Given the description of an element on the screen output the (x, y) to click on. 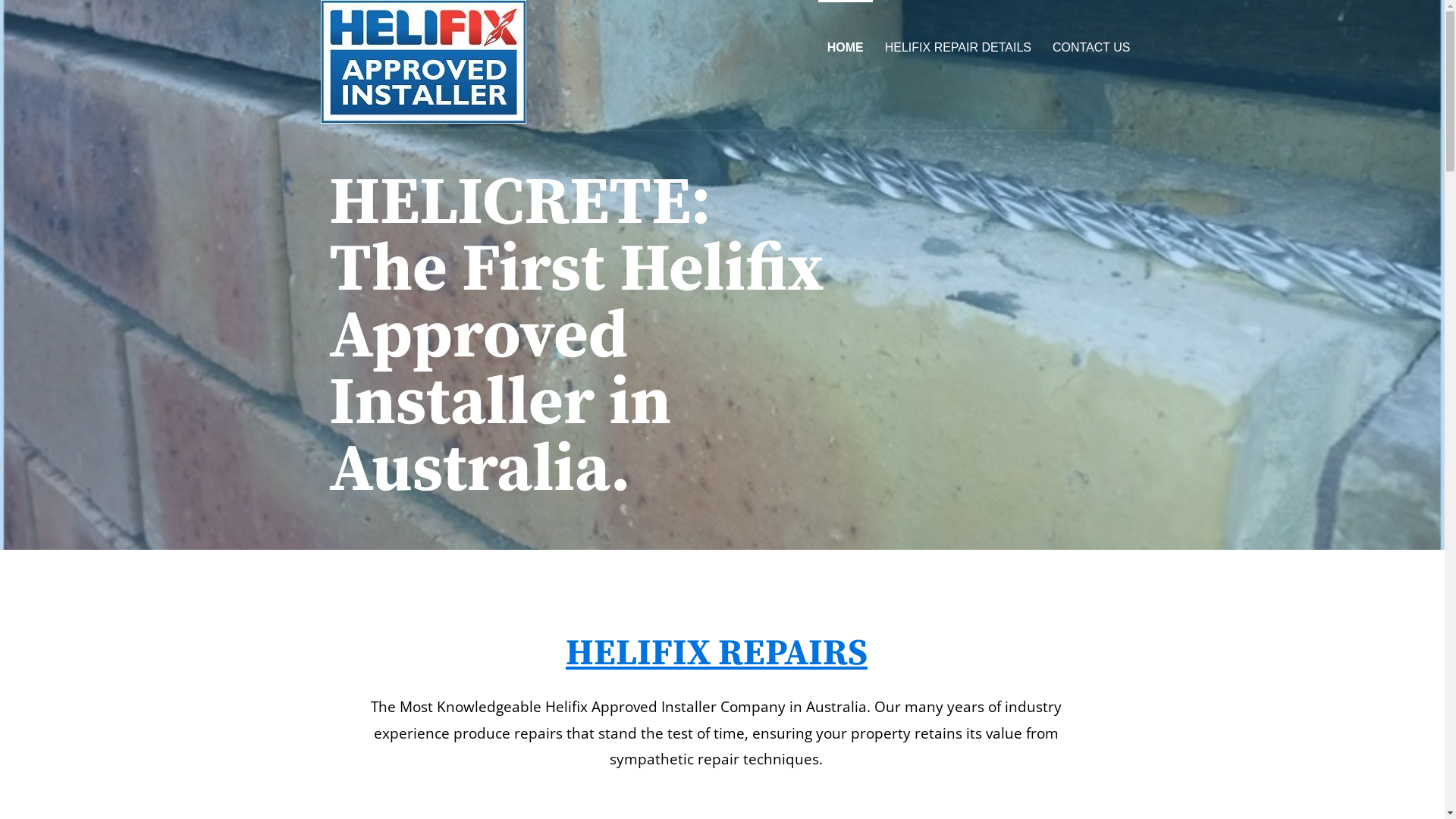
HOME Element type: text (845, 47)
HELIFIX REPAIR DETAILS Element type: text (957, 47)
CONTACT US Element type: text (1091, 47)
Skip to content Element type: text (0, 0)
